Given the description of an element on the screen output the (x, y) to click on. 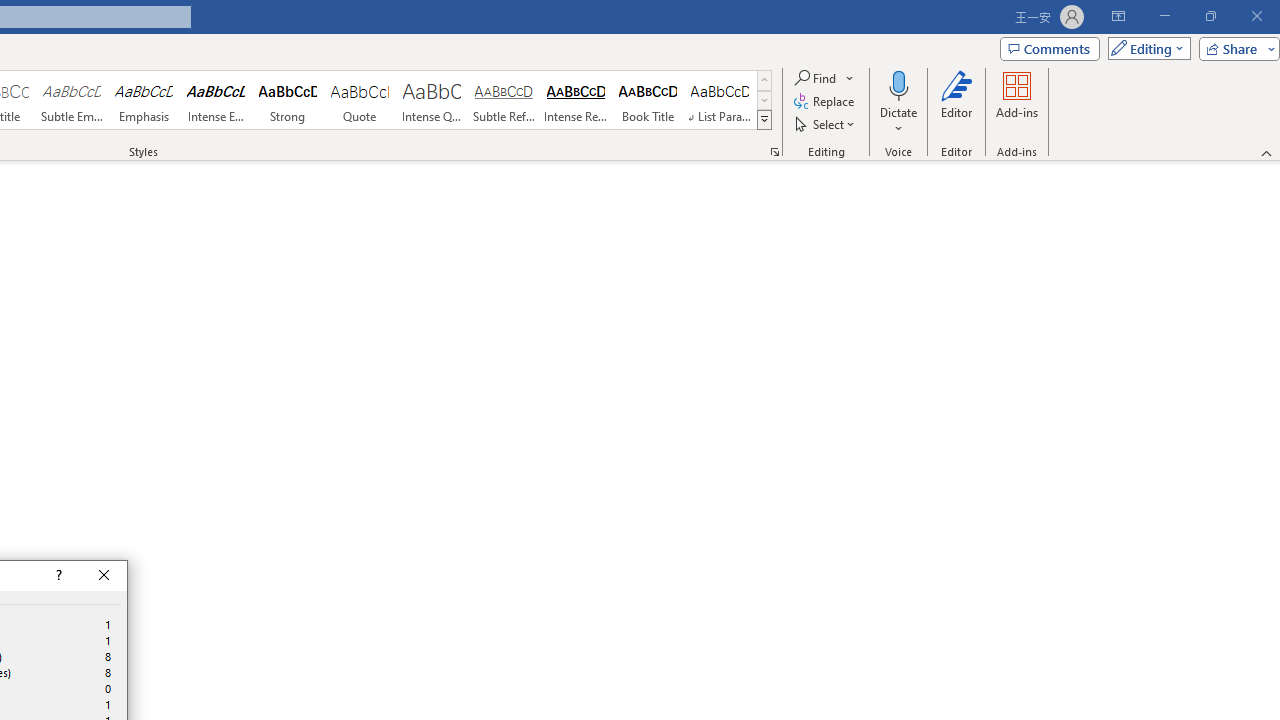
Context help (57, 575)
Subtle Emphasis (71, 100)
Strong (287, 100)
Intense Quote (431, 100)
